Given the description of an element on the screen output the (x, y) to click on. 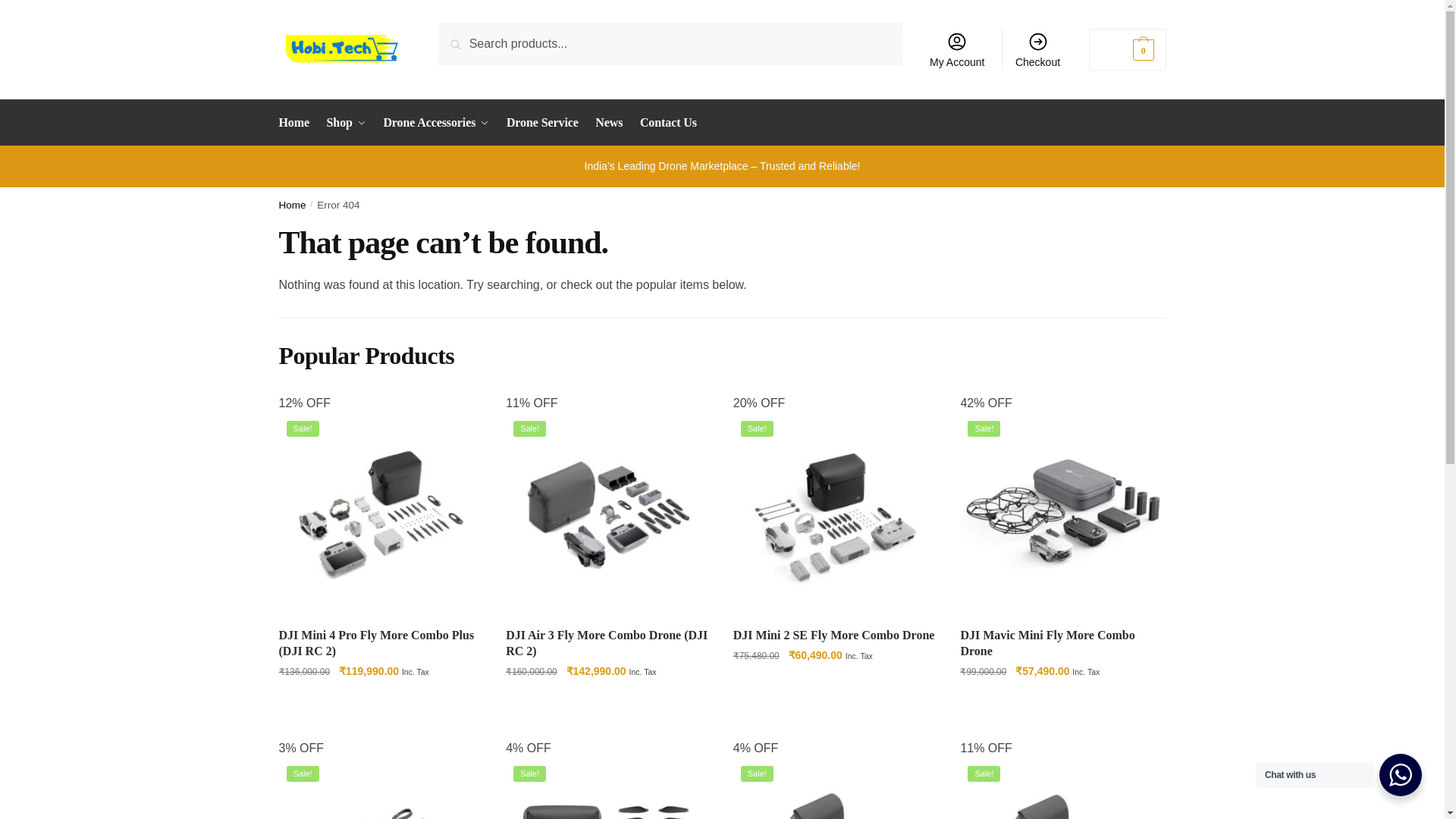
Drone Service (542, 122)
DJI Mini 2 SE Fly More Combo Drone (835, 515)
Drone Accessories (436, 122)
Checkout (1038, 49)
View your shopping cart (1127, 49)
Search (459, 33)
My Account (957, 49)
DJI Mini 3 Pro Drone with DJI RC Remote (381, 788)
News (608, 122)
Sale! (381, 515)
